Given the description of an element on the screen output the (x, y) to click on. 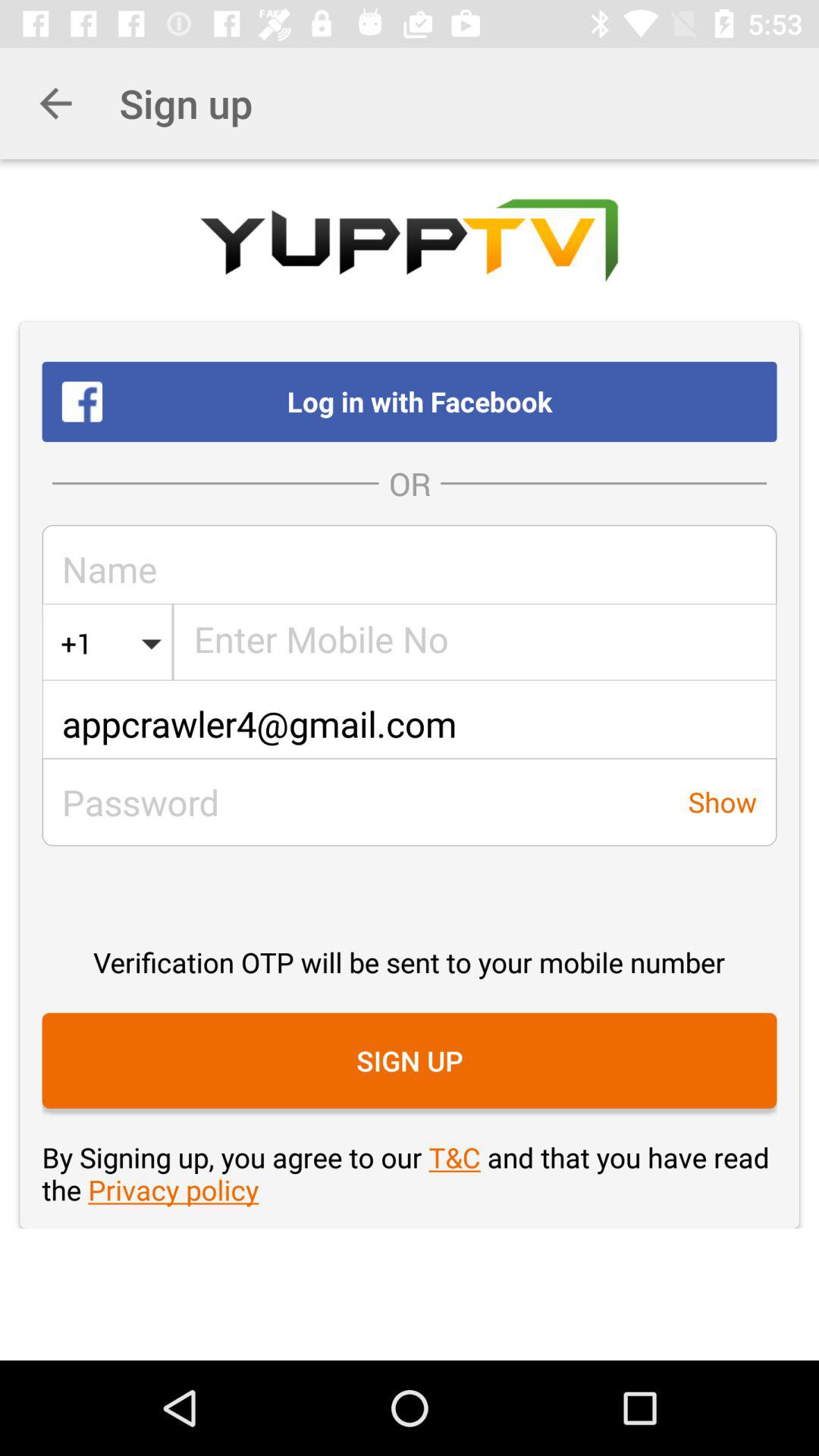
click by signing up icon (409, 1173)
